Given the description of an element on the screen output the (x, y) to click on. 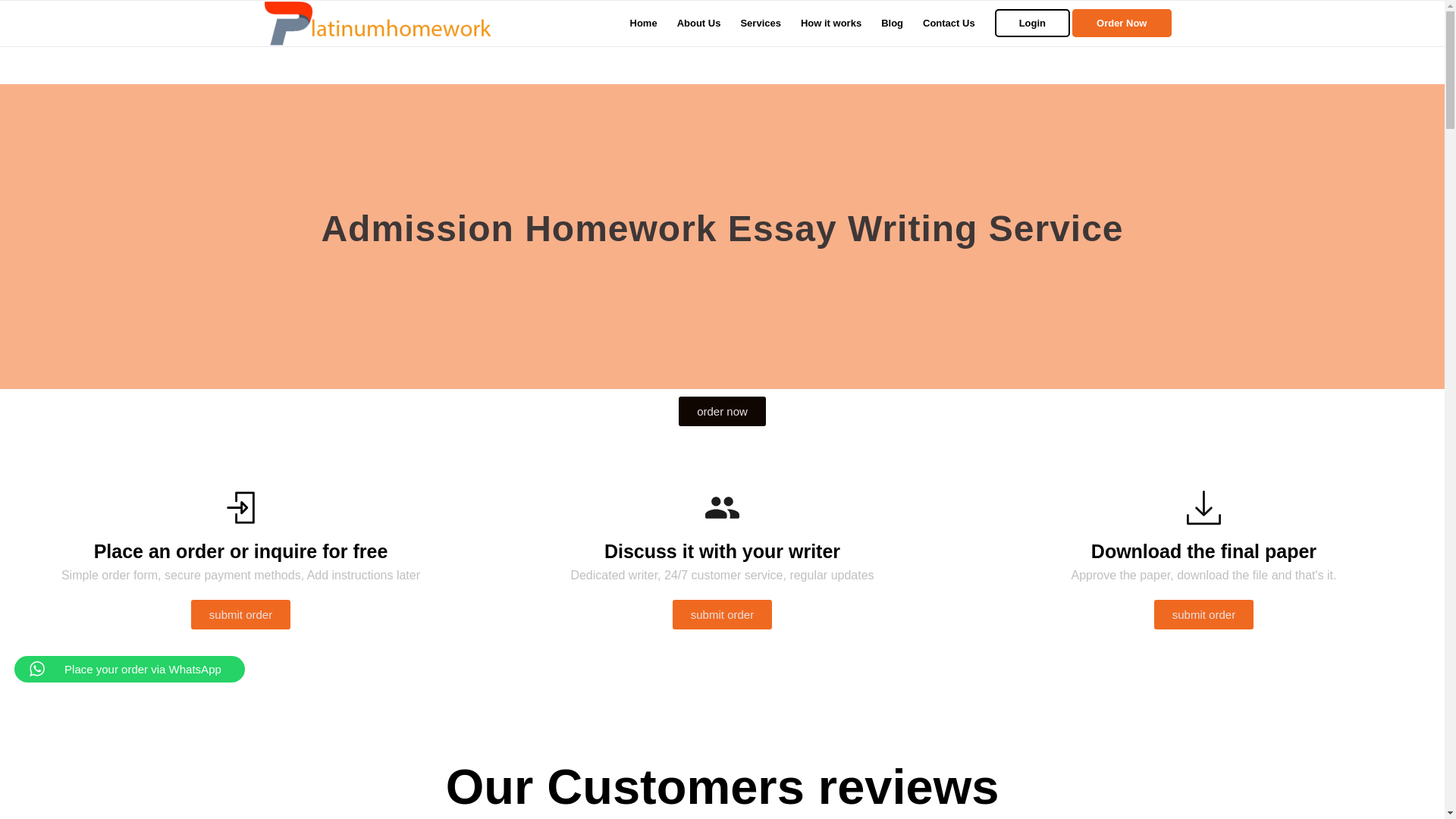
Contact Us (948, 22)
submit order (1203, 614)
Blog (891, 22)
Services (760, 22)
submit order (239, 614)
How it works (830, 22)
Home (643, 22)
About Us (698, 22)
Login (1032, 22)
Order Now (1125, 22)
order now (721, 410)
submit order (721, 614)
